Given the description of an element on the screen output the (x, y) to click on. 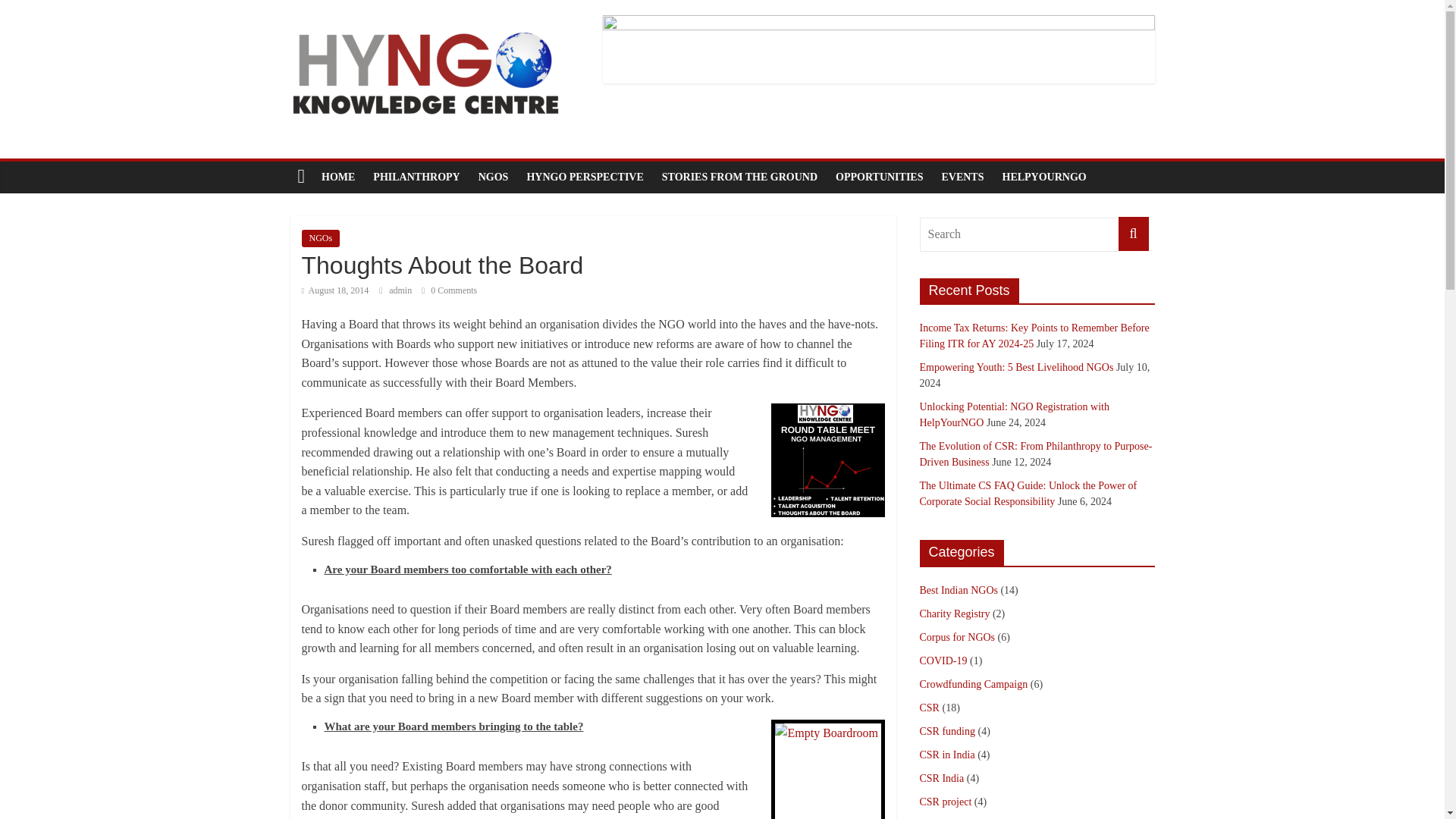
NGOs (320, 238)
NGOS (493, 177)
STORIES FROM THE GROUND (739, 177)
admin (400, 290)
Knowledge Centre Blog (338, 177)
HelpYourNGO (1044, 177)
4:16 pm (335, 290)
August 18, 2014 (335, 290)
HOME (338, 177)
0 Comments (449, 290)
HYNGO PERSPECTIVE (584, 177)
admin (400, 290)
HELPYOURNGO (1044, 177)
Philanthropy (416, 177)
